Given the description of an element on the screen output the (x, y) to click on. 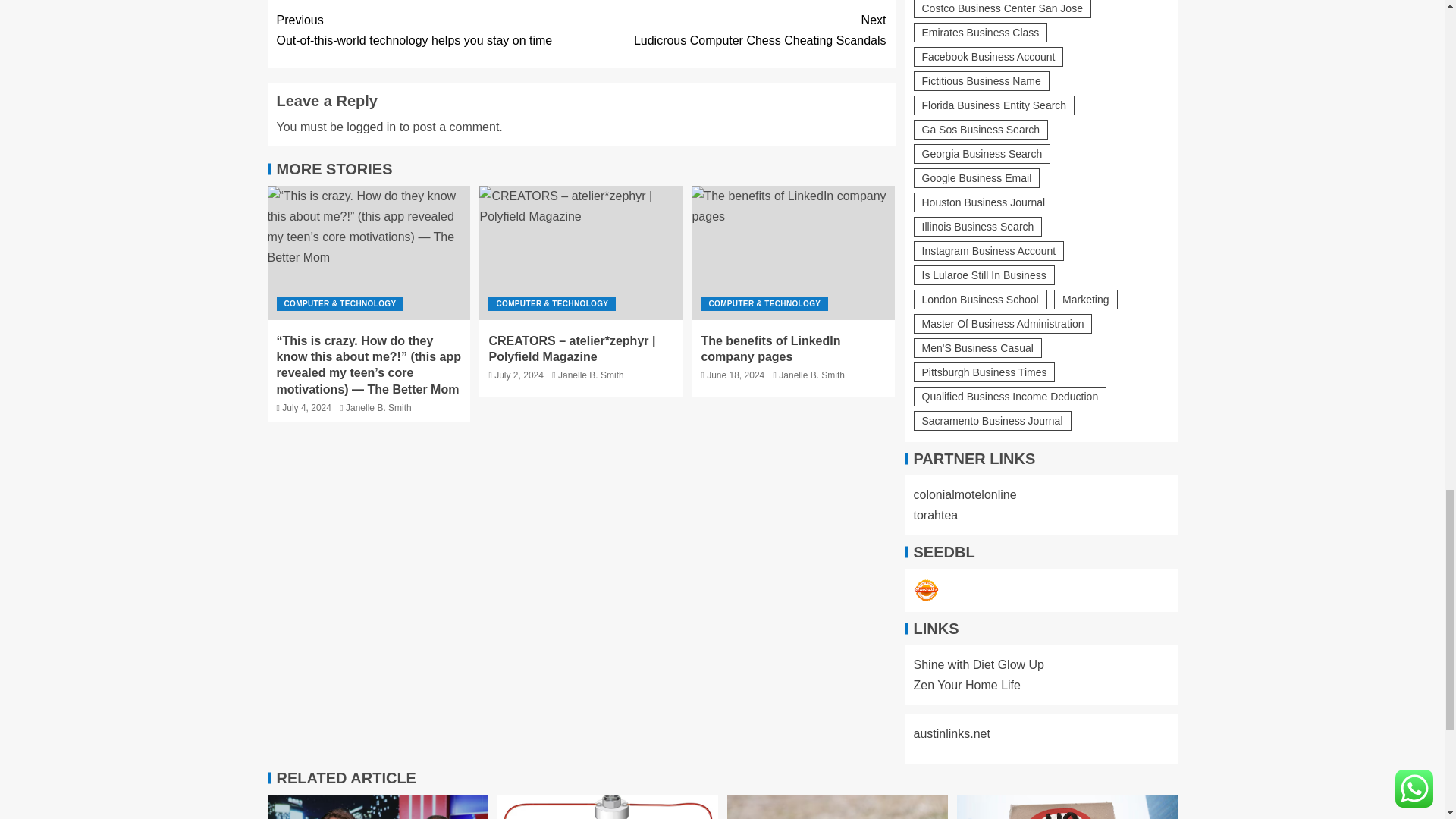
White Sox Draft Electric Lefty Hagen Smith with No. 5 Pick (607, 806)
Seedbacklink (925, 590)
The benefits of LinkedIn company pages (793, 252)
Orioles Surpass Yankees: A Stunning Shift in the AL East (836, 806)
